Given the description of an element on the screen output the (x, y) to click on. 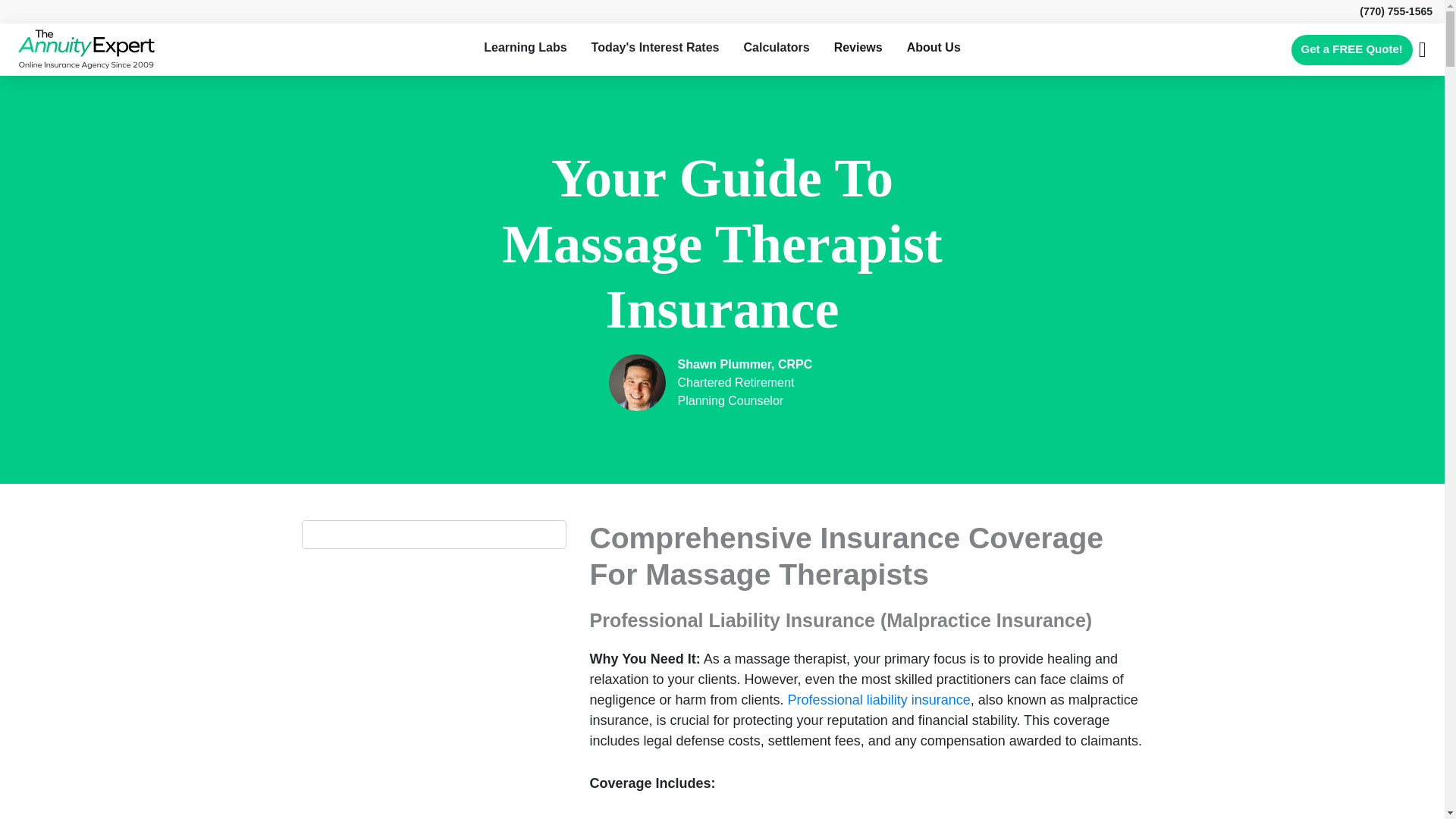
Reviews (858, 47)
About Us (933, 47)
Get a FREE Quote! (1351, 50)
